Given the description of an element on the screen output the (x, y) to click on. 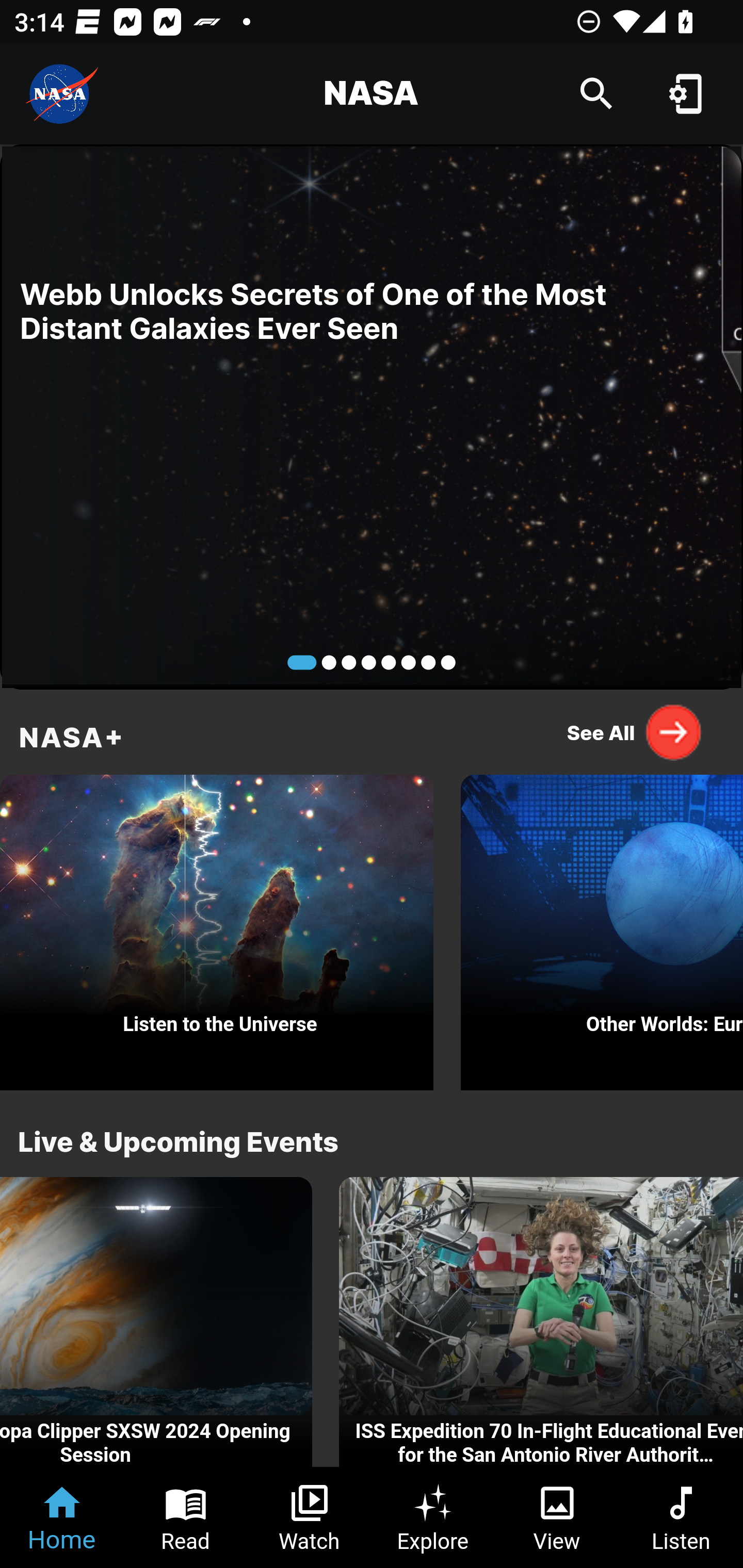
See All (634, 732)
Listen to the Universe (216, 927)
Other Worlds: Europa (601, 927)
NASA's Europa Clipper SXSW 2024 Opening Session (156, 1322)
Home
Tab 1 of 6 (62, 1517)
Read
Tab 2 of 6 (185, 1517)
Watch
Tab 3 of 6 (309, 1517)
Explore
Tab 4 of 6 (433, 1517)
View
Tab 5 of 6 (556, 1517)
Listen
Tab 6 of 6 (680, 1517)
